Given the description of an element on the screen output the (x, y) to click on. 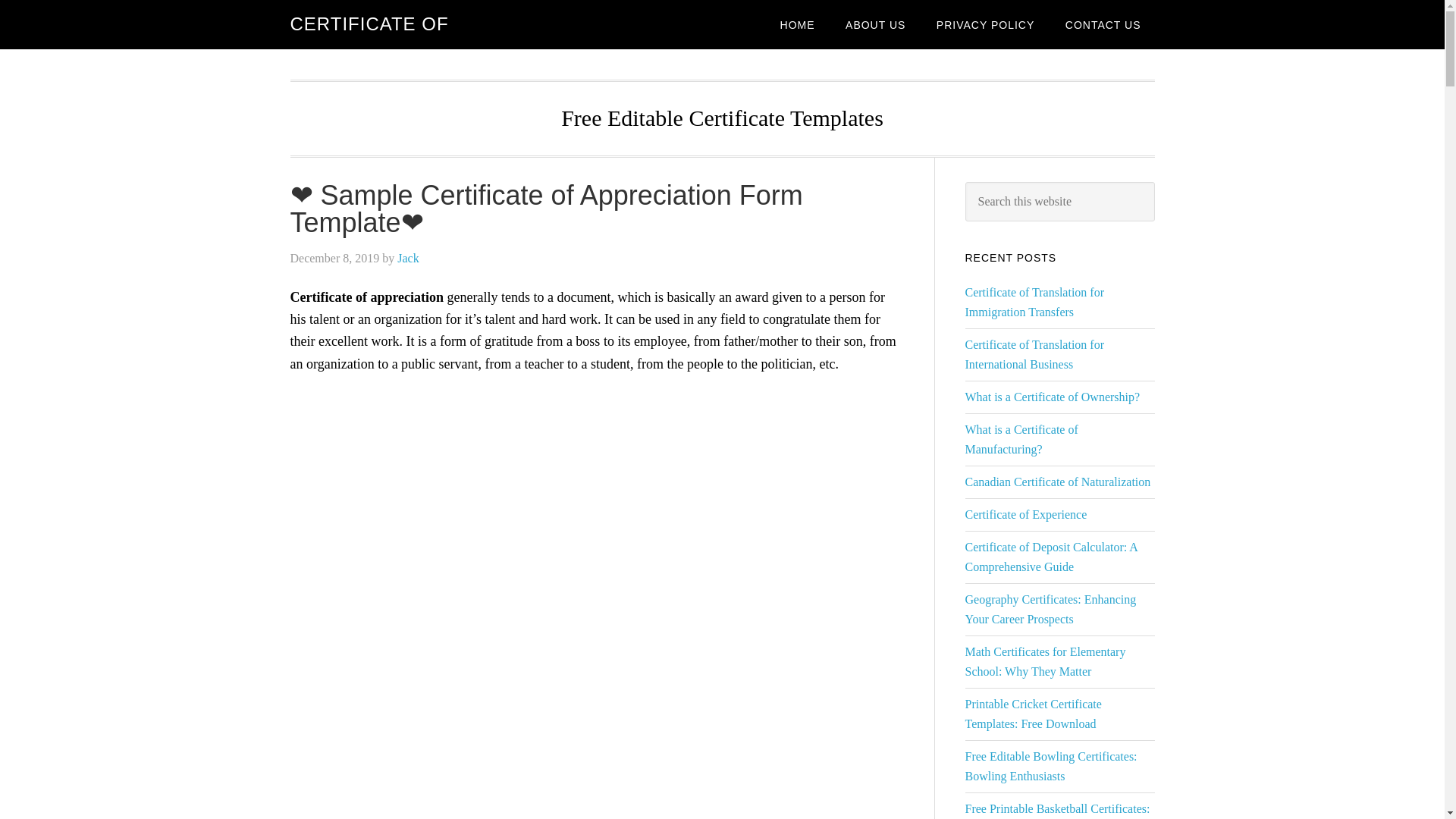
HOME (797, 24)
CERTIFICATE OF (368, 23)
Certificate of Experience (1024, 513)
Certificate of Translation for Immigration Transfers (1033, 301)
What is a Certificate of Ownership? (1051, 396)
Canadian Certificate of Naturalization (1056, 481)
What is a Certificate of Manufacturing? (1020, 439)
Jack (408, 257)
ABOUT US (874, 24)
Geography Certificates: Enhancing Your Career Prospects (1049, 608)
Math Certificates for Elementary School: Why They Matter (1044, 661)
Certificate of Translation for International Business (1033, 354)
Printable Cricket Certificate Templates: Free Download (1031, 713)
